Given the description of an element on the screen output the (x, y) to click on. 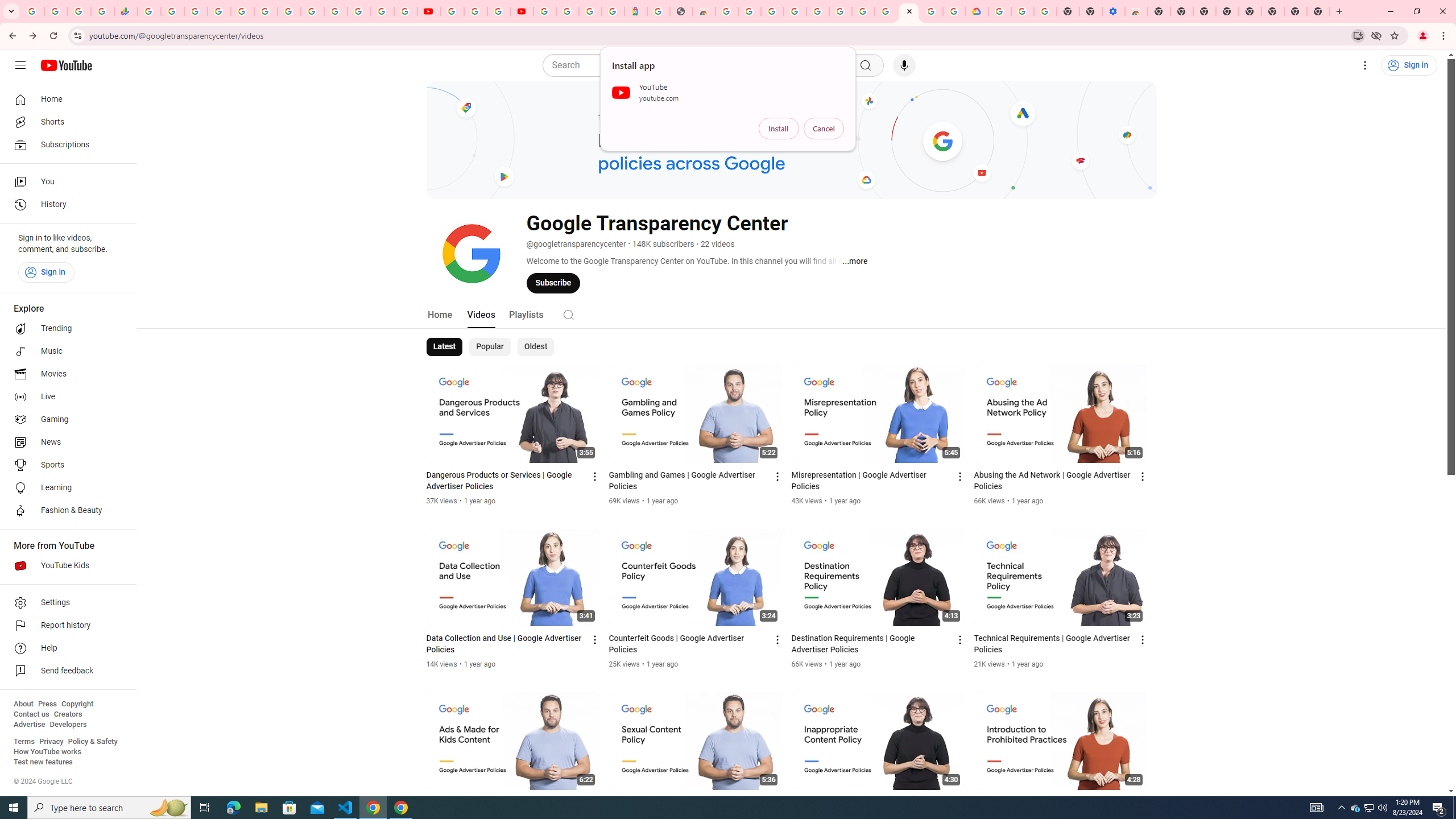
Developers (68, 724)
Google Transparency Center - YouTube (909, 11)
YouTube (451, 11)
Popular (489, 346)
Music (64, 350)
Create your Google Account (749, 11)
Google Account Help (863, 11)
Send feedback (64, 671)
Subscriptions (64, 144)
Action menu (1142, 802)
